Given the description of an element on the screen output the (x, y) to click on. 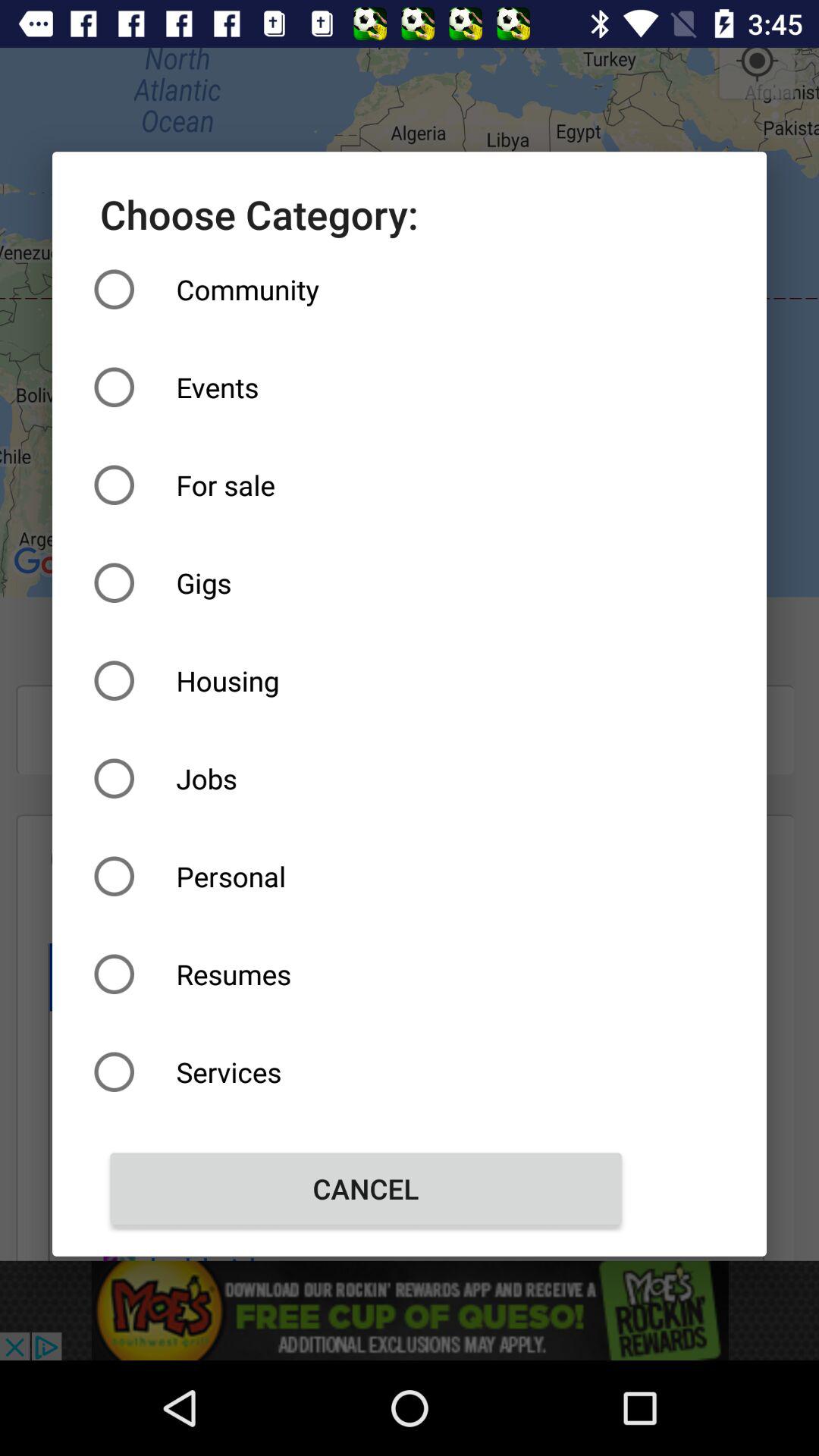
open icon below the housing item (365, 778)
